Given the description of an element on the screen output the (x, y) to click on. 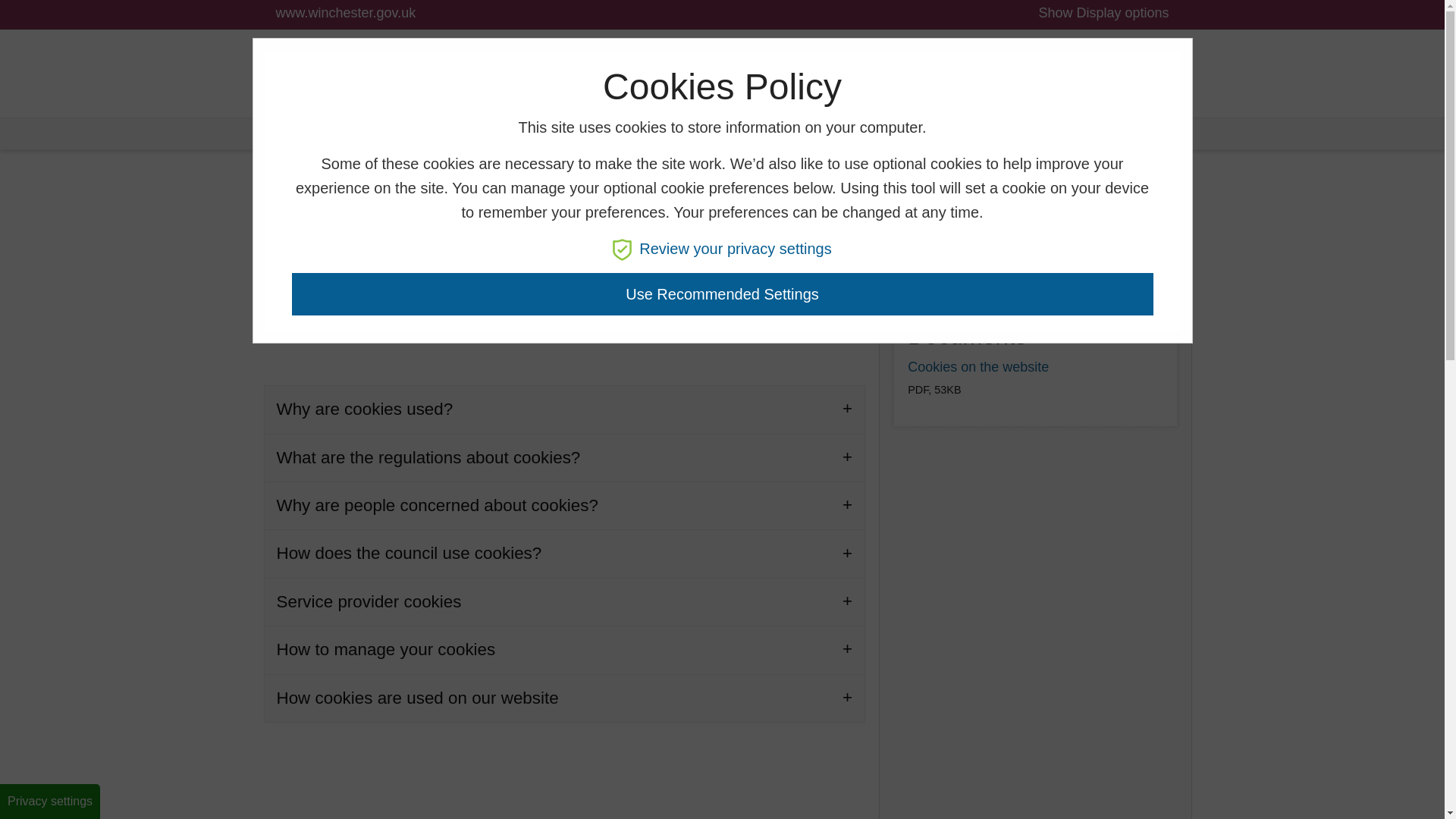
How to manage your cookies (564, 649)
What are the regulations about cookies? (564, 457)
Privacy Policy (949, 223)
www.winchester.gov.uk (345, 14)
Go (774, 72)
How does the council use cookies? (564, 553)
Why are people concerned about cookies? (564, 505)
Service provider cookies (564, 601)
Why are cookies used? (564, 408)
Home (277, 132)
